Given the description of an element on the screen output the (x, y) to click on. 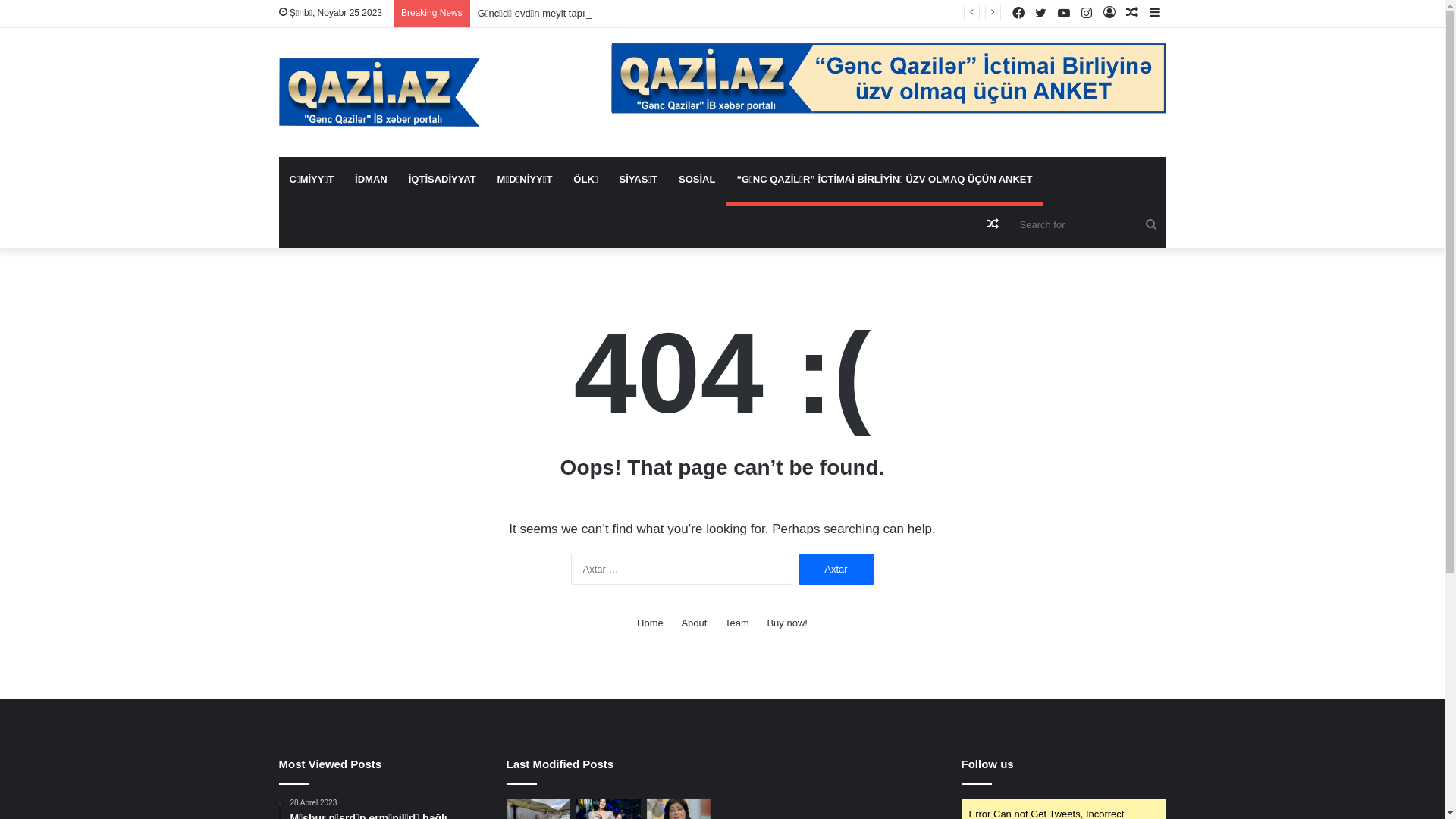
Follow us Element type: text (987, 763)
About Element type: text (693, 622)
Home Element type: text (650, 622)
Qazi.az Element type: hover (379, 92)
Axtar Element type: text (835, 568)
Search for Element type: hover (1088, 224)
Sidebar Element type: text (1154, 13)
Buy now! Element type: text (786, 622)
SOSIAL Element type: text (696, 179)
Random Article Element type: text (1131, 13)
Facebook Element type: text (1018, 13)
Twitter Element type: text (1040, 13)
Log In Element type: text (1109, 13)
YouTube Element type: text (1063, 13)
Team Element type: text (736, 622)
Search for Element type: text (1150, 224)
Random Article Element type: text (992, 224)
Instagram Element type: text (1086, 13)
